Given the description of an element on the screen output the (x, y) to click on. 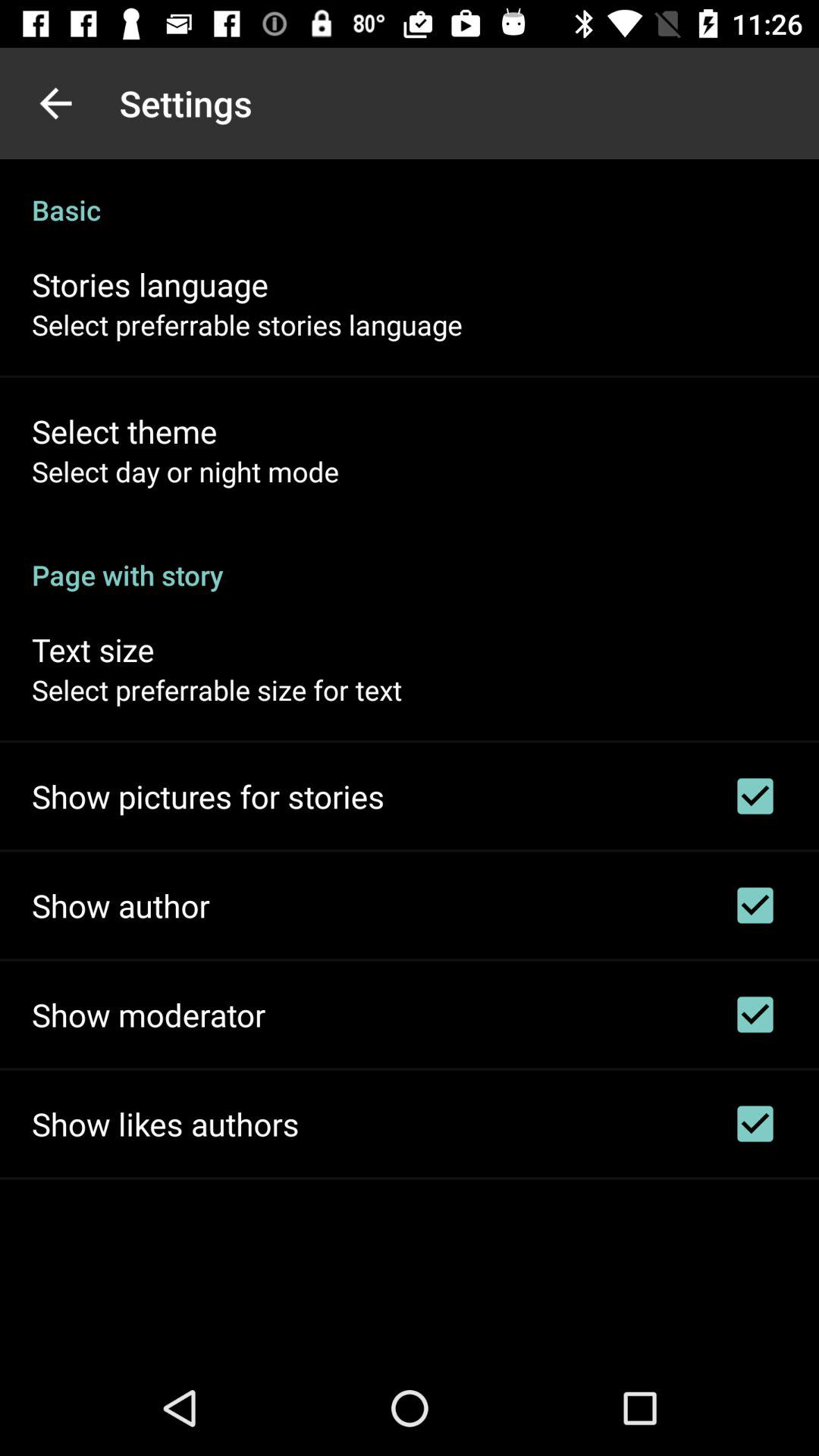
turn on the item above the show author (207, 795)
